Given the description of an element on the screen output the (x, y) to click on. 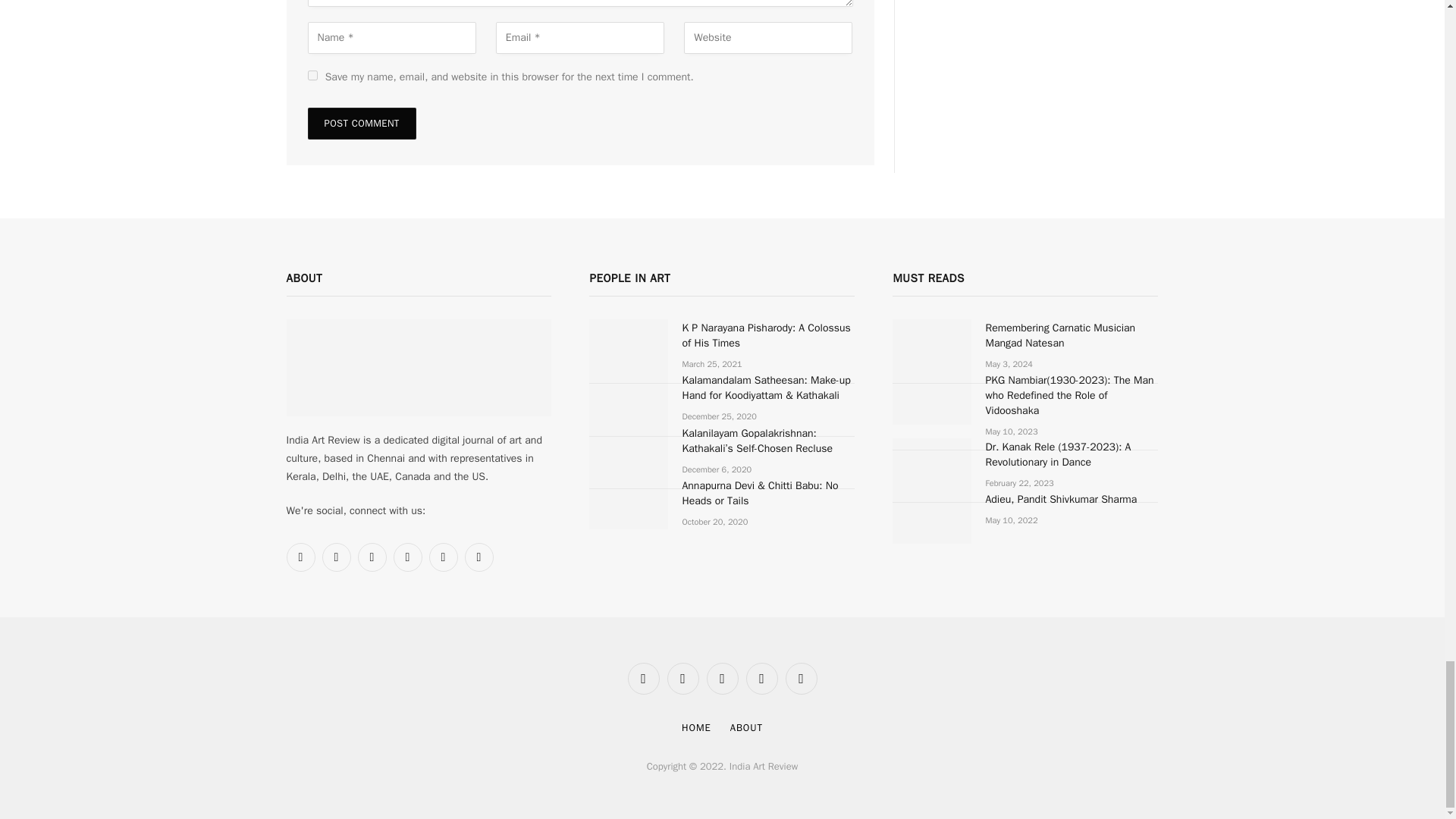
yes (312, 75)
Post Comment (361, 123)
